Given the description of an element on the screen output the (x, y) to click on. 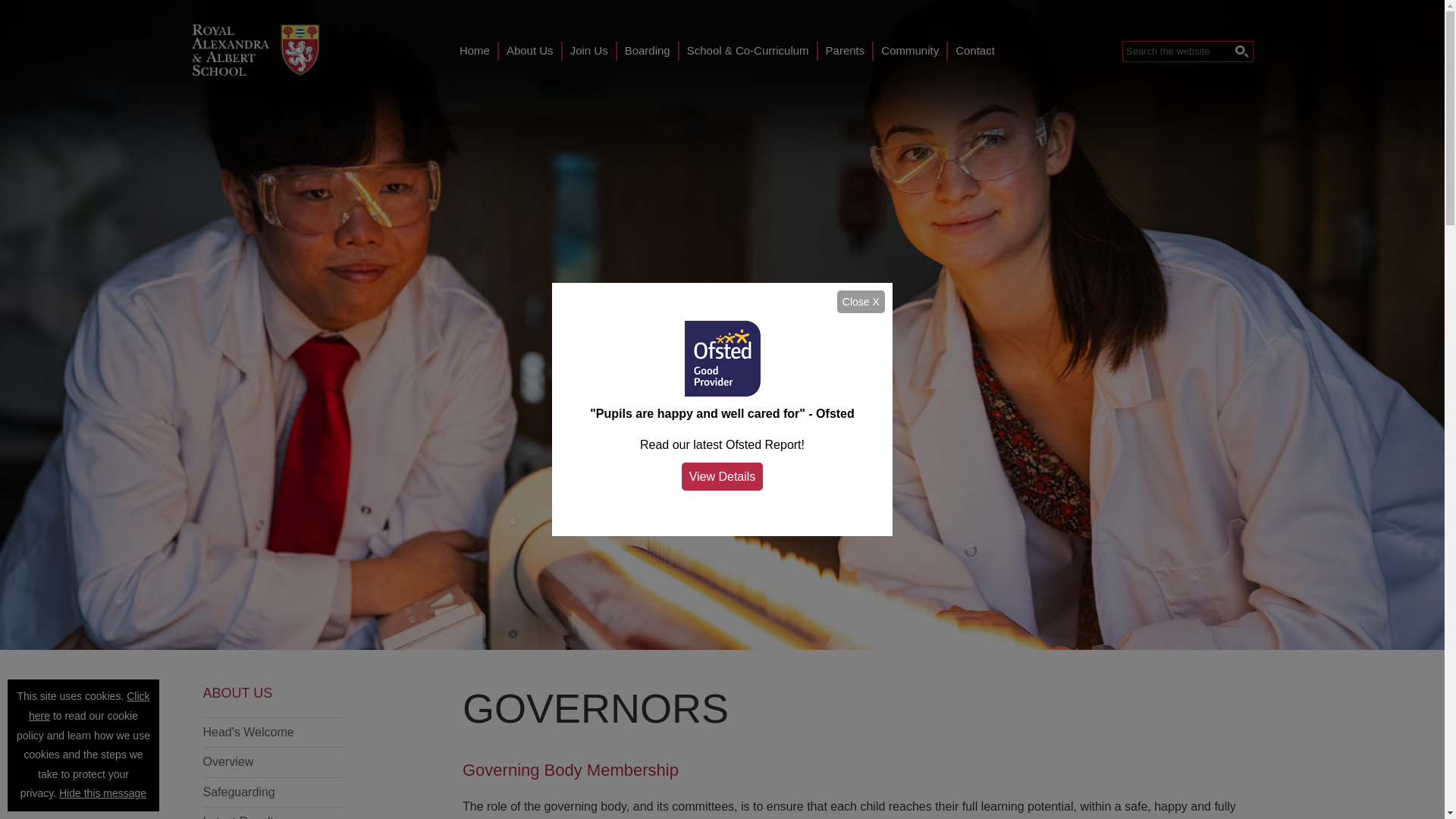
Click here (89, 705)
Hide this message (103, 793)
